Given the description of an element on the screen output the (x, y) to click on. 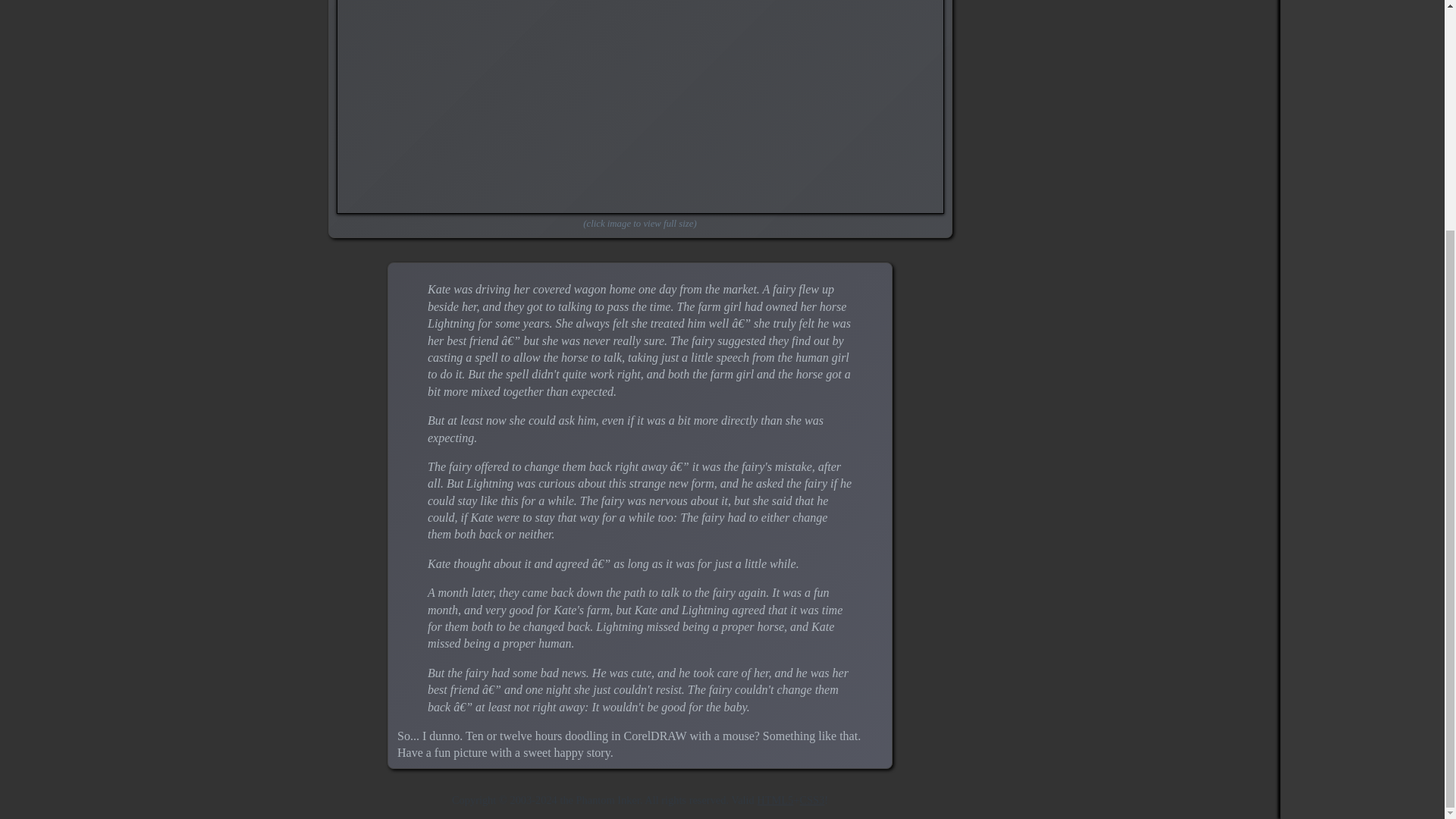
Click to view full size (639, 106)
HTML5 (775, 799)
CSS3 (811, 799)
